Given the description of an element on the screen output the (x, y) to click on. 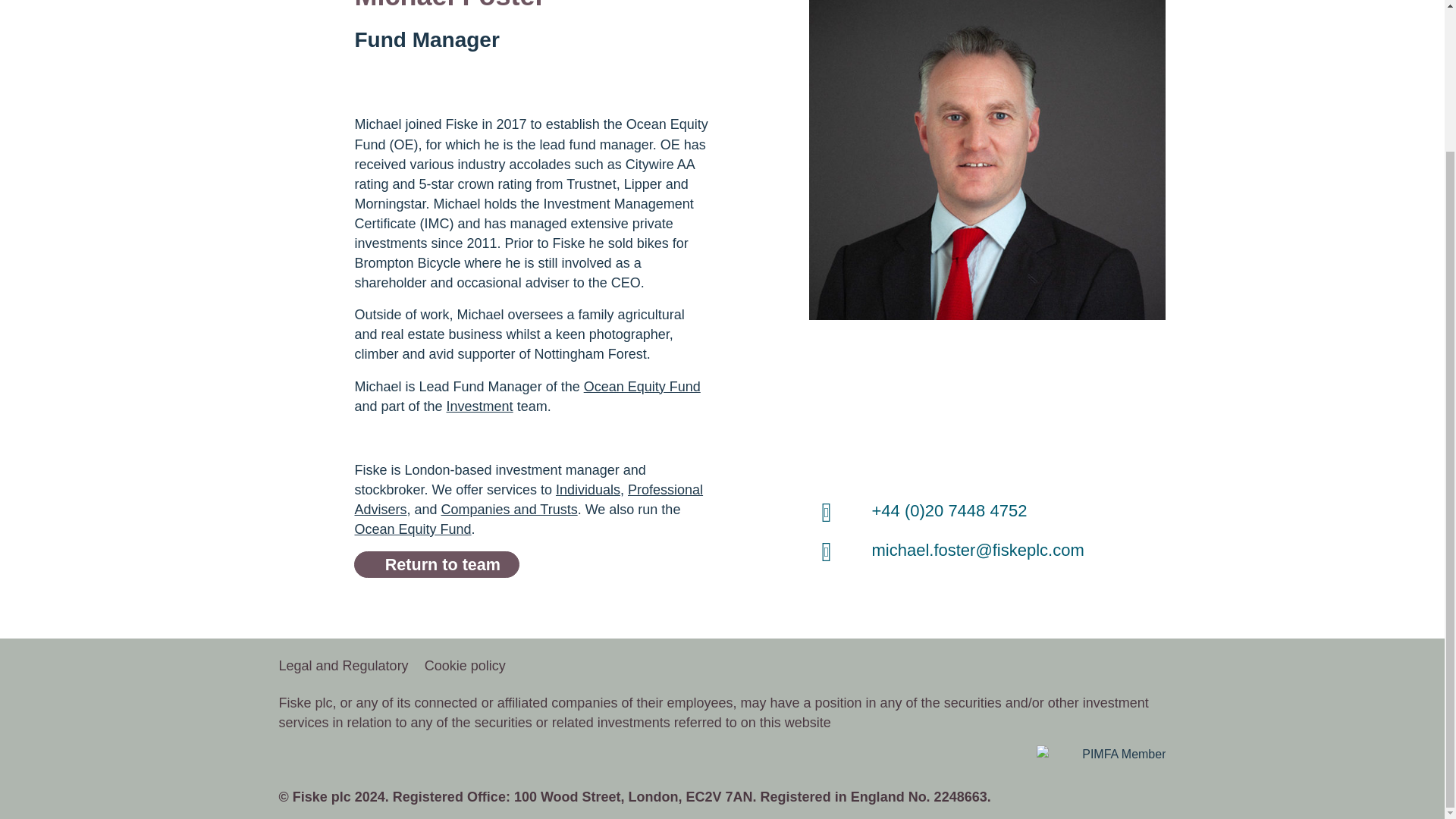
Ocean Equity Fund (641, 386)
Return to team (436, 564)
Legal and Regulatory (349, 665)
Cookie policy (471, 665)
Individuals (588, 489)
Companies and Trusts (509, 509)
Investment (479, 406)
Ocean Equity Fund (411, 529)
Professional Advisers (528, 499)
